Given the description of an element on the screen output the (x, y) to click on. 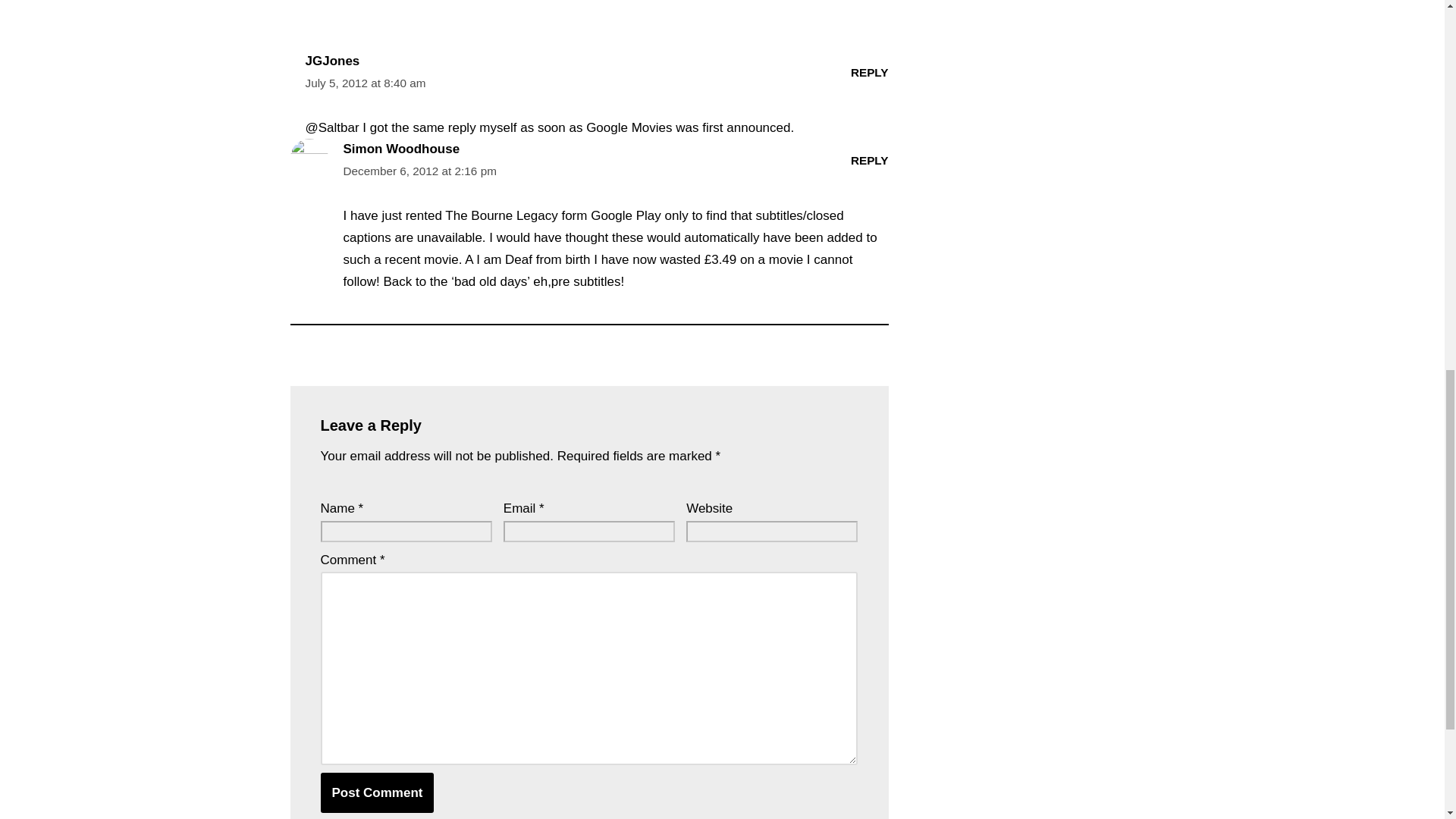
JGJones (331, 60)
Simon Woodhouse (401, 148)
July 5, 2012 at 8:40 am (364, 83)
REPLY (869, 160)
Post Comment (376, 793)
REPLY (869, 72)
December 6, 2012 at 2:16 pm (419, 171)
Post Comment (376, 793)
